Given the description of an element on the screen output the (x, y) to click on. 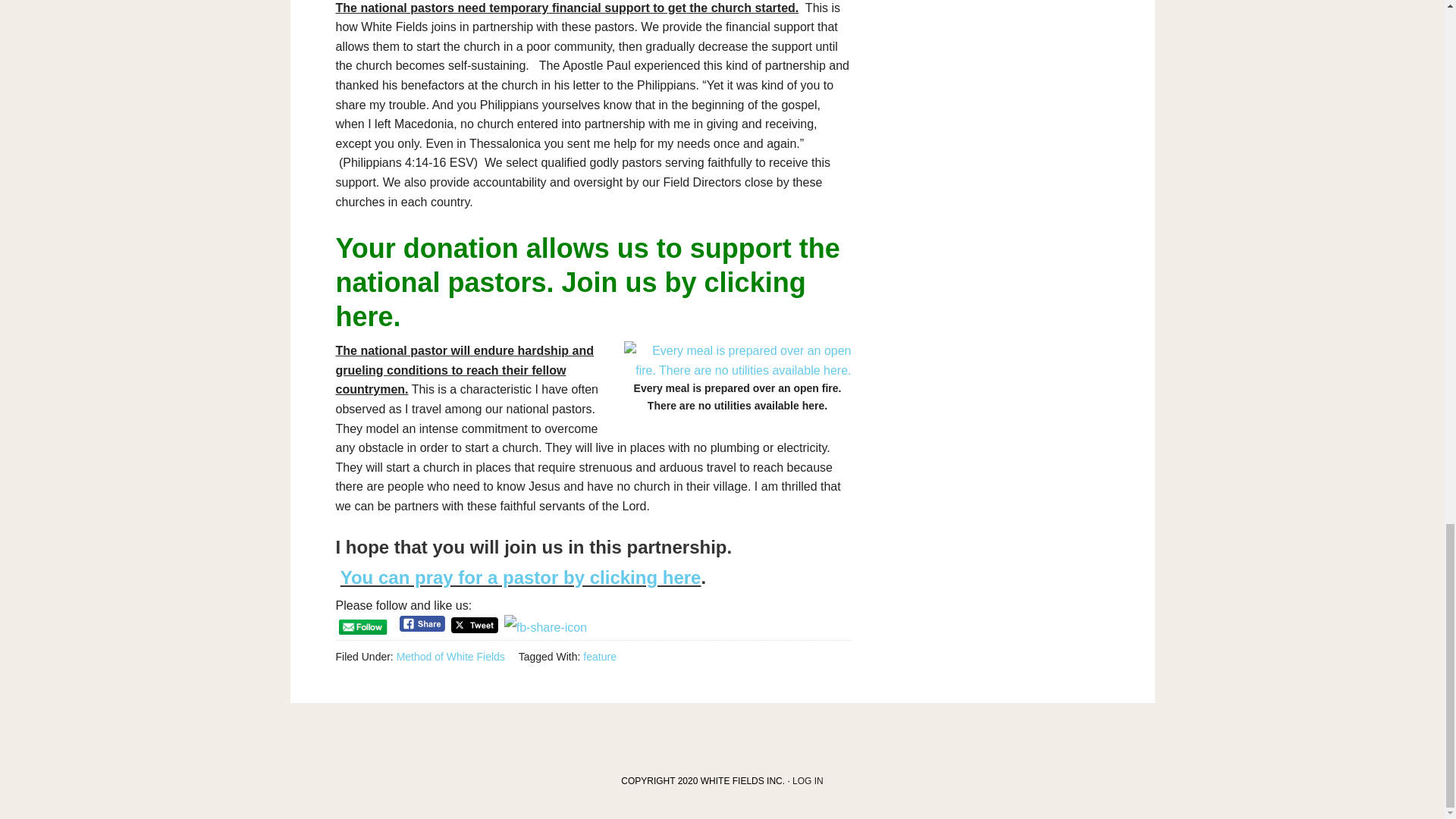
Pin Share (544, 627)
Facebook Share (421, 623)
GIVE (587, 282)
Tweet (474, 625)
PRAY FOR A PASTOR (520, 577)
